Given the description of an element on the screen output the (x, y) to click on. 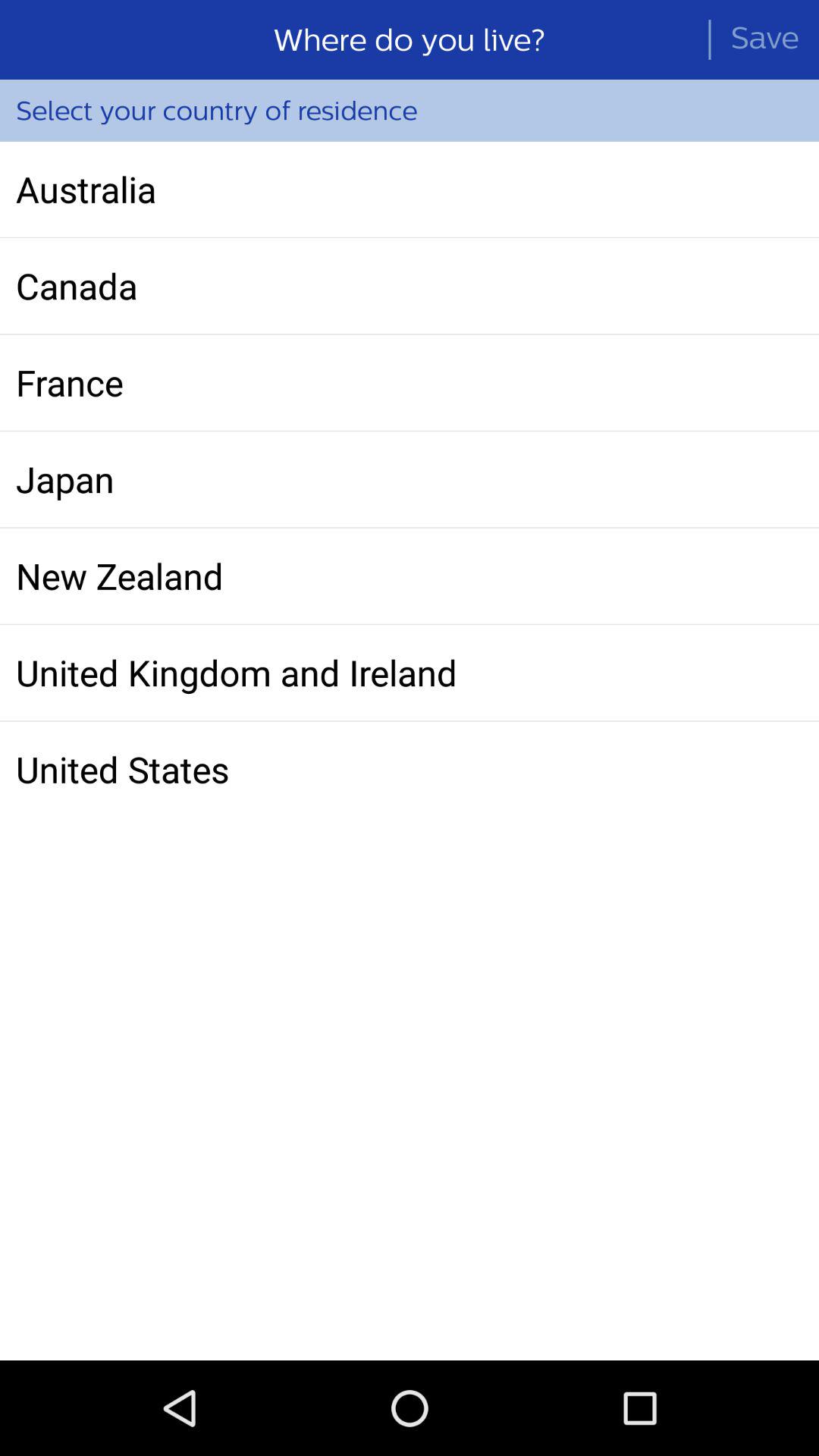
turn off the new zealand app (409, 575)
